Given the description of an element on the screen output the (x, y) to click on. 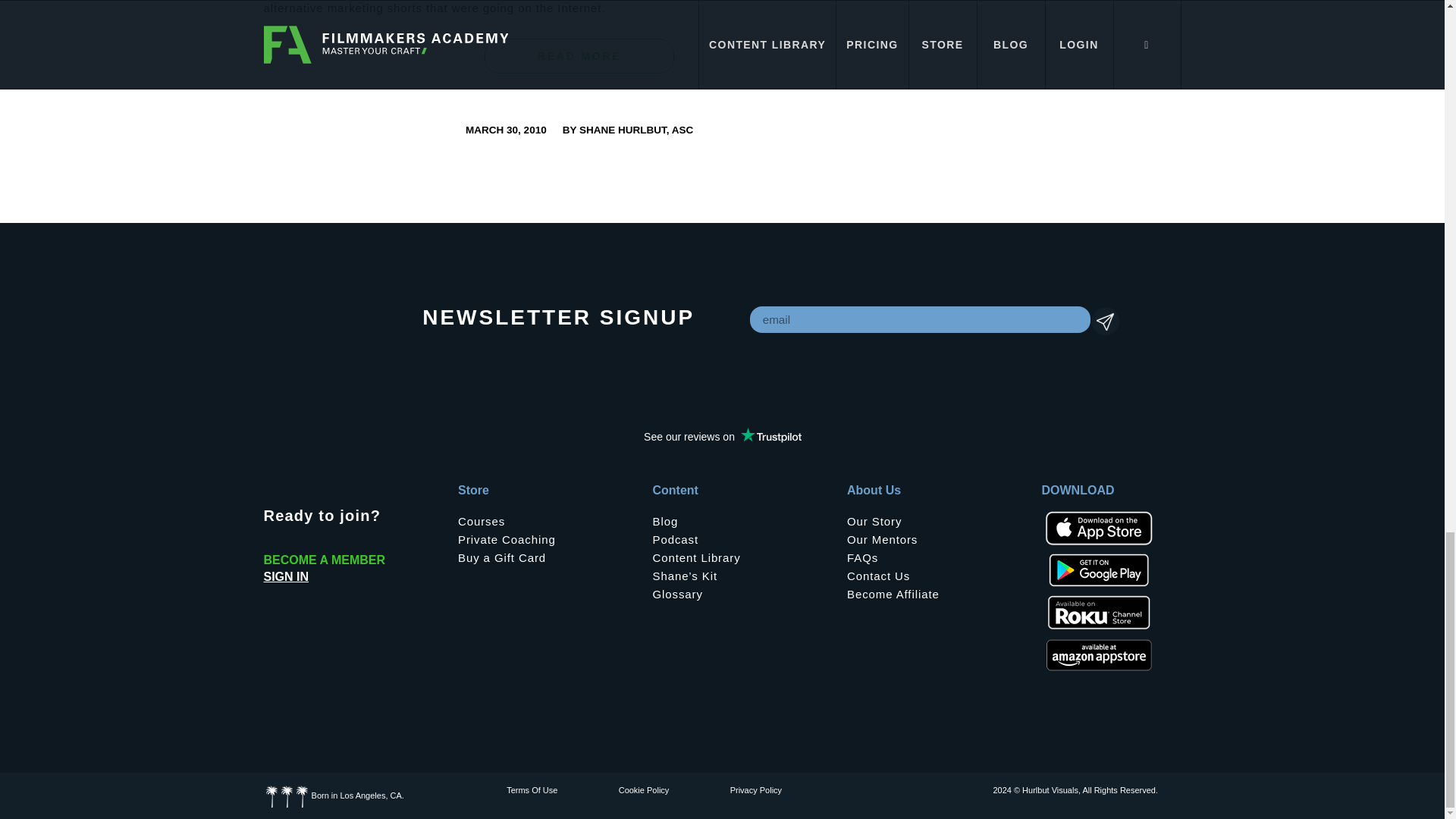
READ MORE (579, 56)
Posts by Shane Hurlbut, ASC (636, 129)
SHANE HURLBUT, ASC (636, 129)
